Given the description of an element on the screen output the (x, y) to click on. 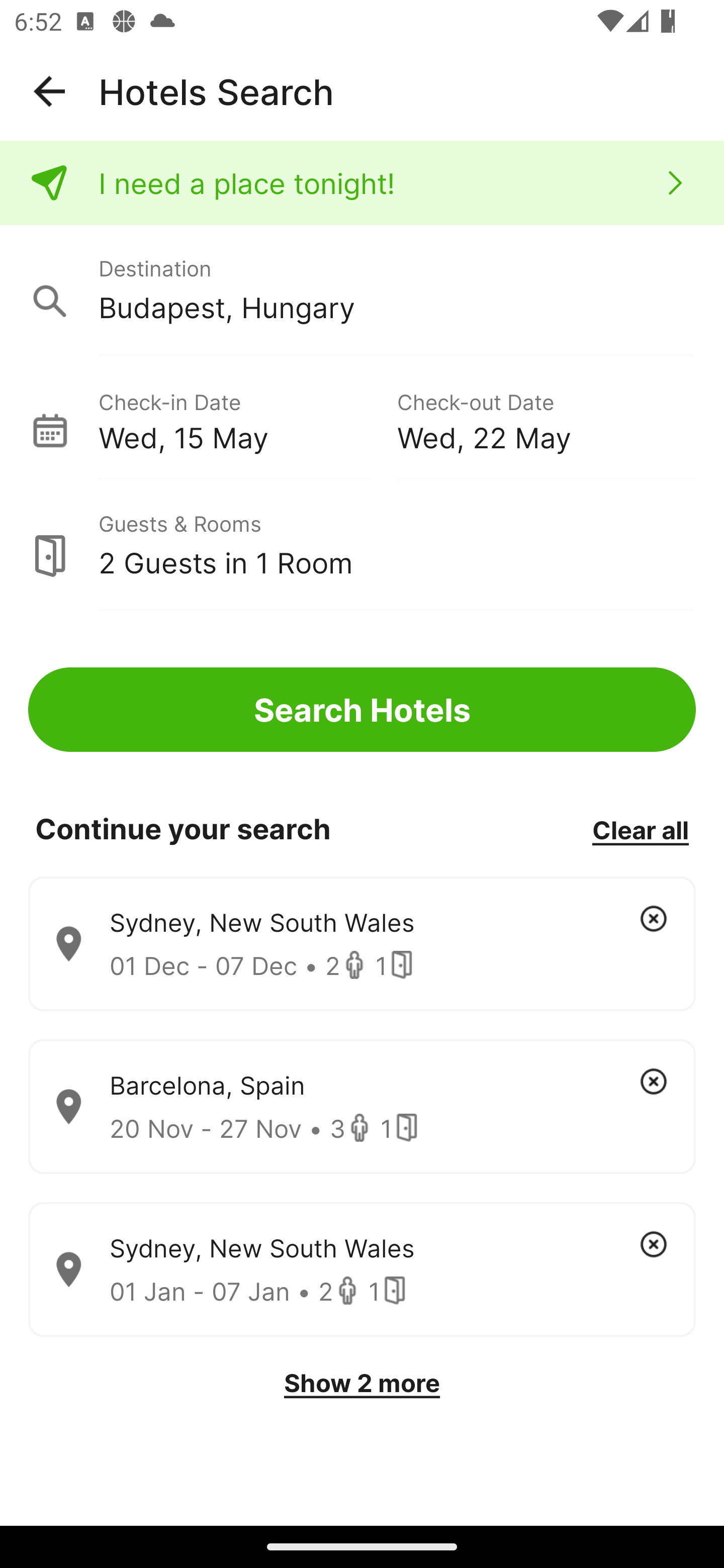
I need a place tonight! (362, 183)
Destination Budapest, Hungary (362, 290)
Check-in Date Wed, 15 May (247, 418)
Check-out Date Wed, 22 May (546, 418)
Guests & Rooms 2 Guests in 1 Room (362, 545)
Search Hotels (361, 709)
Clear all (640, 829)
Sydney, New South Wales 01 Dec - 07 Dec • 2  1  (361, 943)
Barcelona, Spain 20 Nov - 27 Nov • 3  1  (361, 1106)
Sydney, New South Wales 01 Jan - 07 Jan • 2  1  (361, 1269)
Show 2 more (362, 1382)
